Given the description of an element on the screen output the (x, y) to click on. 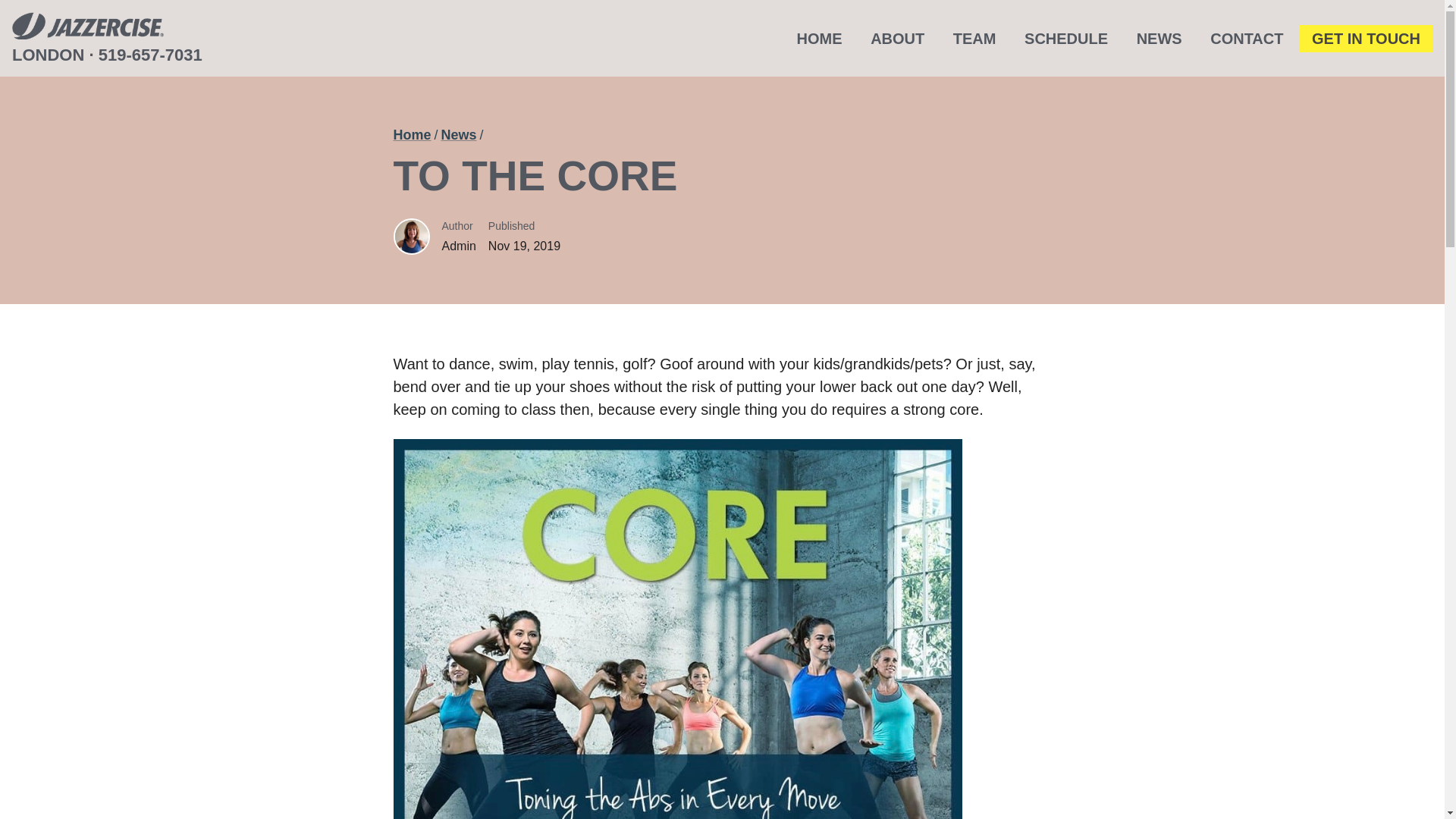
TEAM (974, 38)
CONTACT (1246, 38)
News (459, 135)
Home (411, 135)
ABOUT (897, 38)
NEWS (1158, 38)
SCHEDULE (1065, 38)
HOME (819, 38)
GET IN TOUCH (1366, 38)
